Given the description of an element on the screen output the (x, y) to click on. 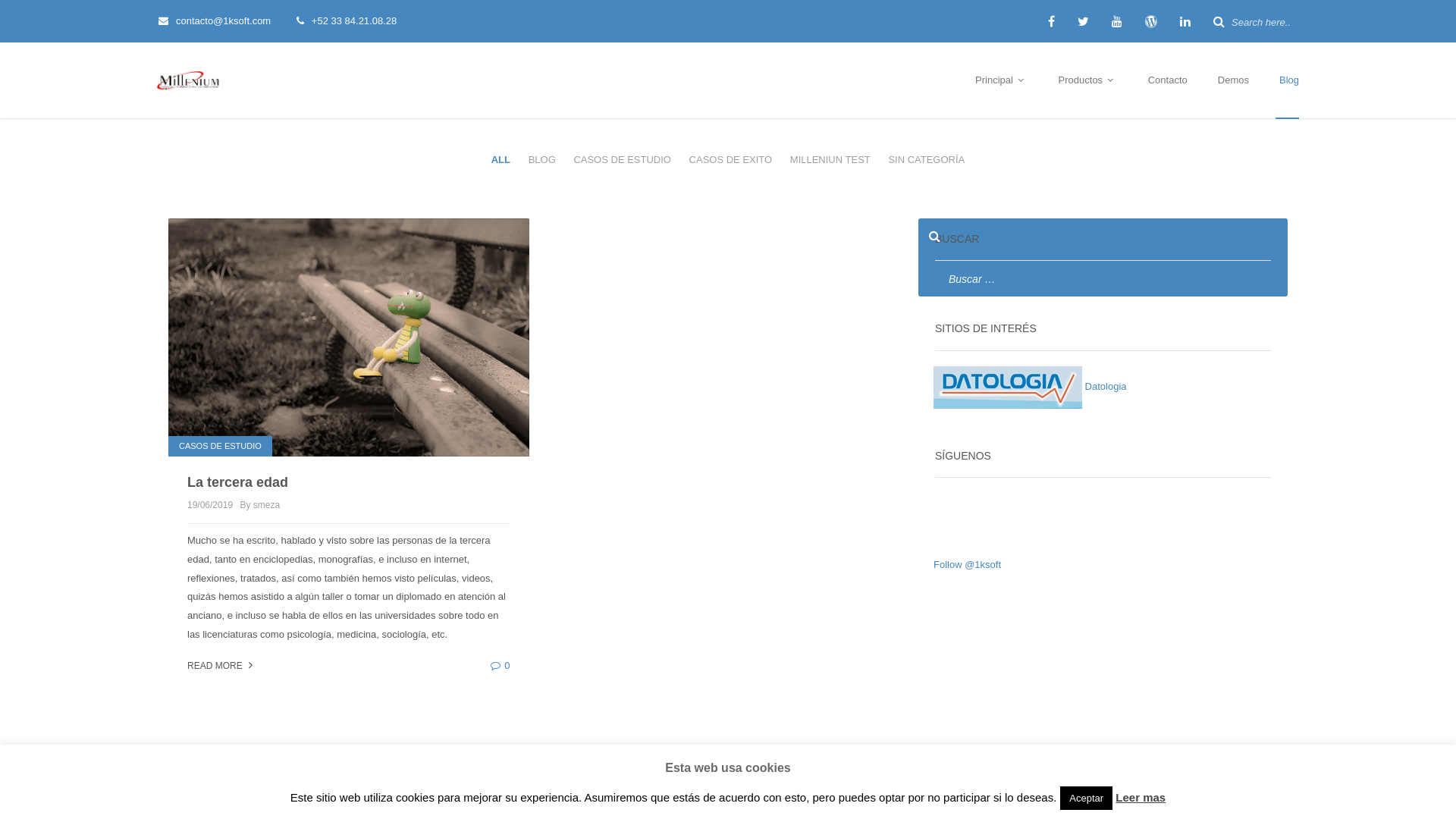
0 Element type: text (499, 665)
Maskitto Light Element type: text (586, 775)
Contacto Element type: text (1167, 81)
BLOG Element type: text (541, 160)
Datologia Element type: text (1029, 386)
Leer mas Element type: text (1140, 796)
ALL Element type: text (500, 160)
MILLENIUN TEST Element type: text (830, 160)
Blog Element type: text (1287, 81)
Productos Element type: text (1087, 81)
READ MORE Element type: text (221, 665)
CASOS DE ESTUDIO Element type: text (621, 160)
Follow @1ksoft Element type: text (967, 564)
CASOS DE ESTUDIO Element type: text (220, 446)
Demos Element type: text (1233, 81)
La tercera edad Element type: text (237, 481)
Aceptar Element type: text (1086, 797)
Buscar Element type: text (21, 9)
CASOS DE EXITO Element type: text (730, 160)
Empresa de desarrollo de software Element type: hover (1007, 387)
Principal Element type: text (1001, 81)
contacto@1ksoft.com Element type: text (225, 20)
